Given the description of an element on the screen output the (x, y) to click on. 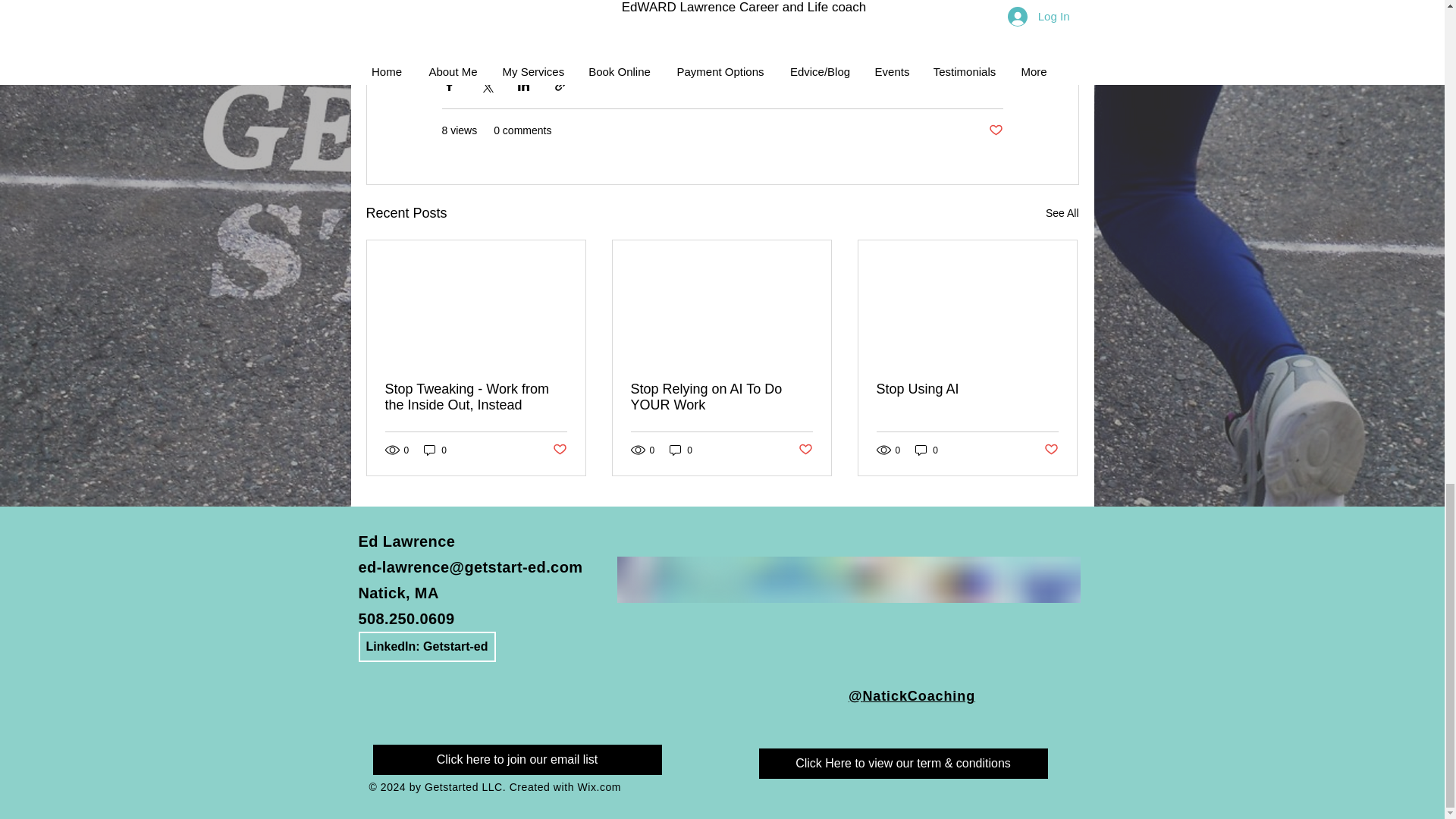
Post not marked as liked (995, 130)
See All (1061, 213)
Post not marked as liked (804, 449)
Post not marked as liked (558, 449)
0 (681, 450)
Stop Relying on AI To Do YOUR Work (721, 397)
0 (435, 450)
Stop Tweaking - Work from the Inside Out, Instead (476, 397)
